Given the description of an element on the screen output the (x, y) to click on. 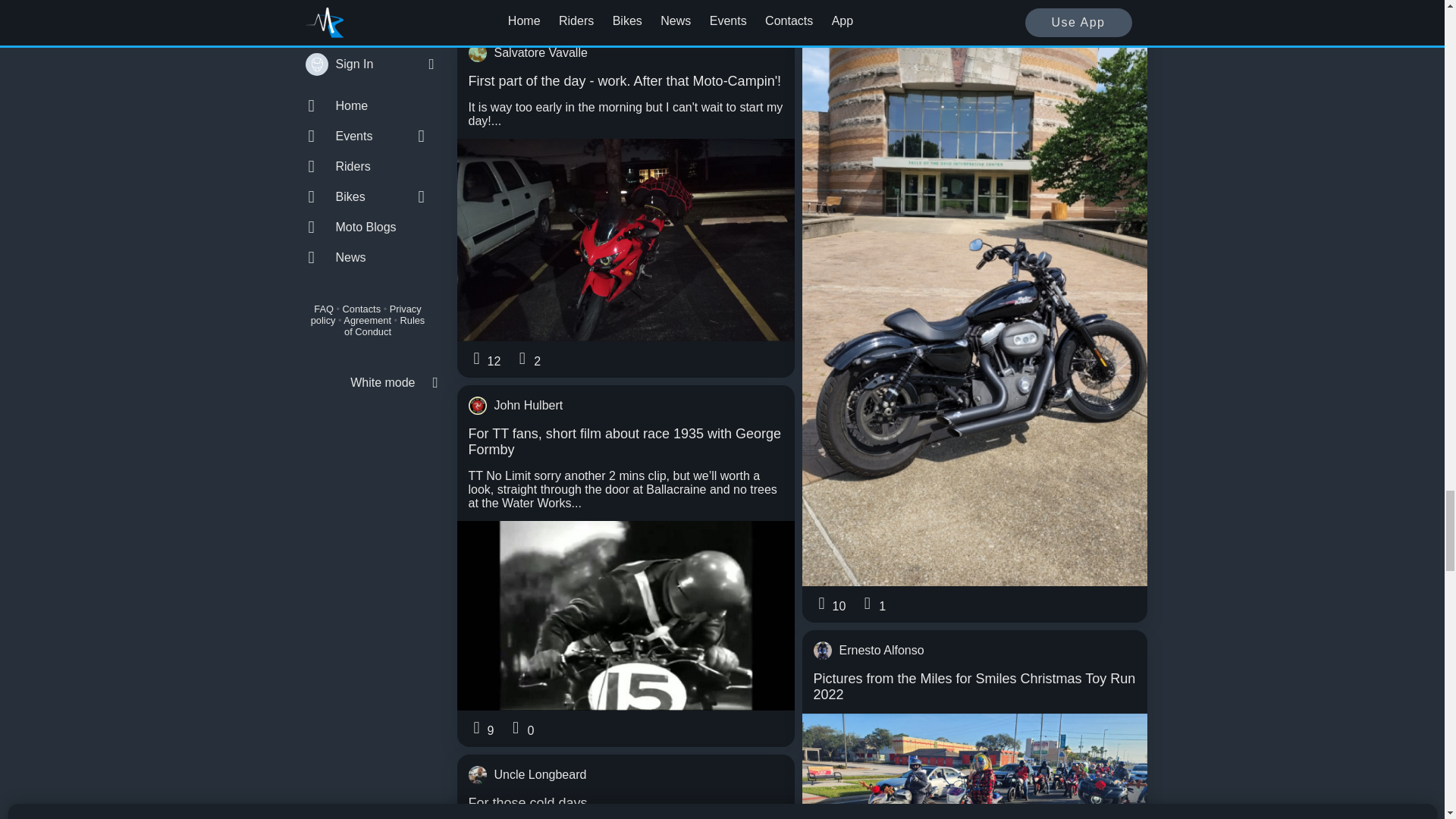
1 (532, 7)
John Hulbert (625, 405)
2 (532, 359)
Salvatore Vavalle (625, 53)
